Given the description of an element on the screen output the (x, y) to click on. 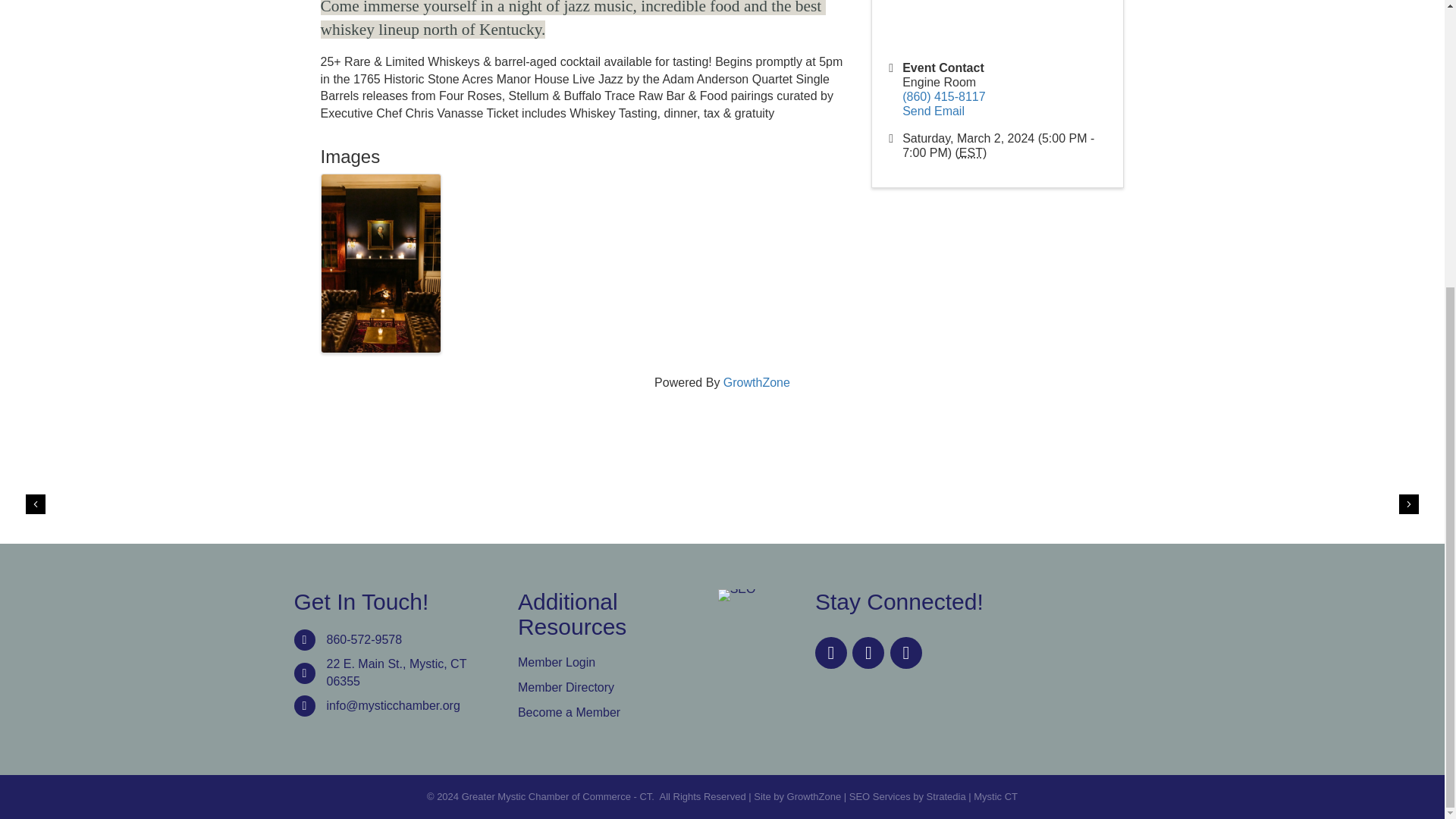
Send Email (932, 110)
Primary Phone (943, 96)
SEO (736, 594)
